Given the description of an element on the screen output the (x, y) to click on. 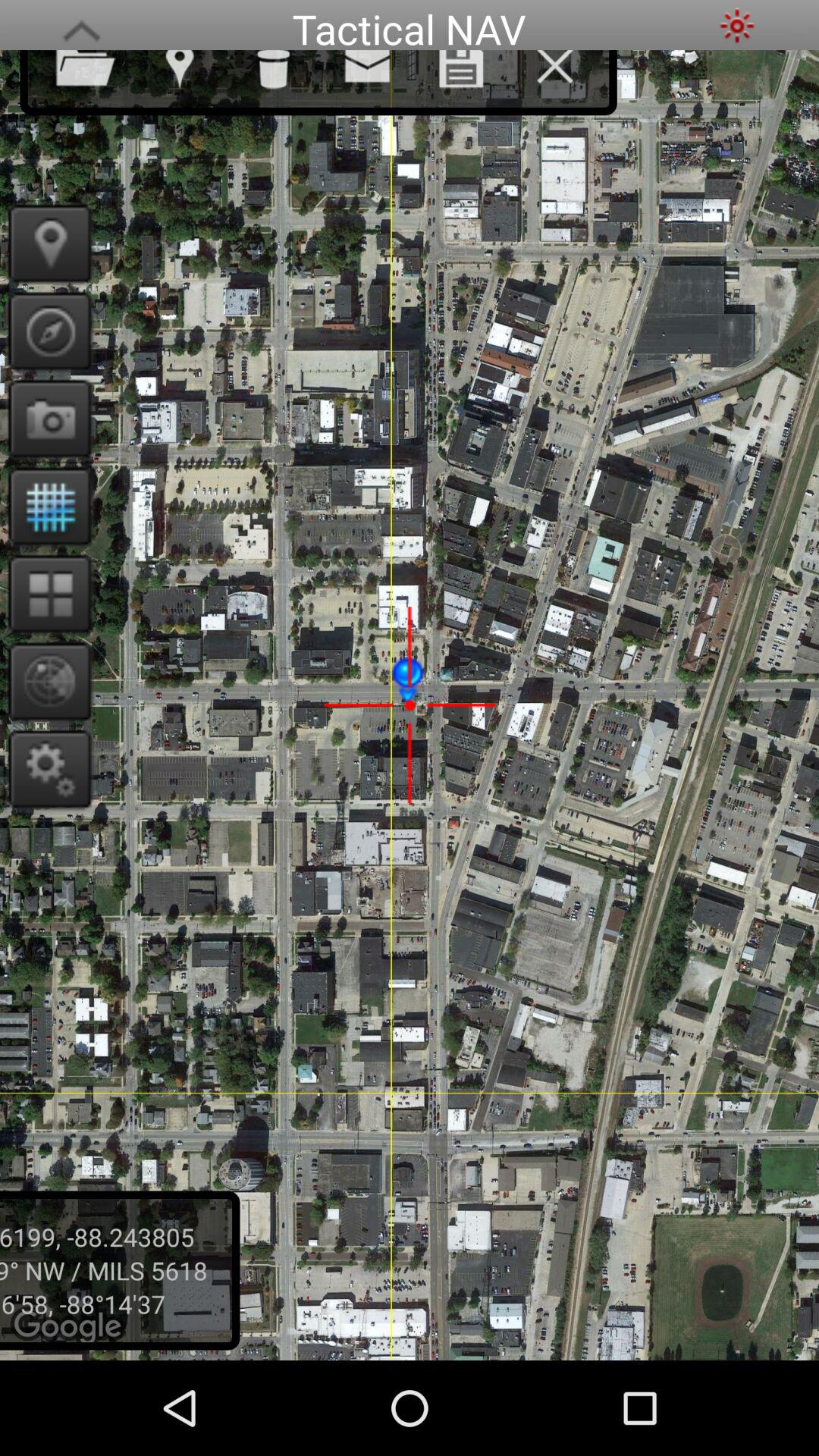
open settings (45, 768)
